Given the description of an element on the screen output the (x, y) to click on. 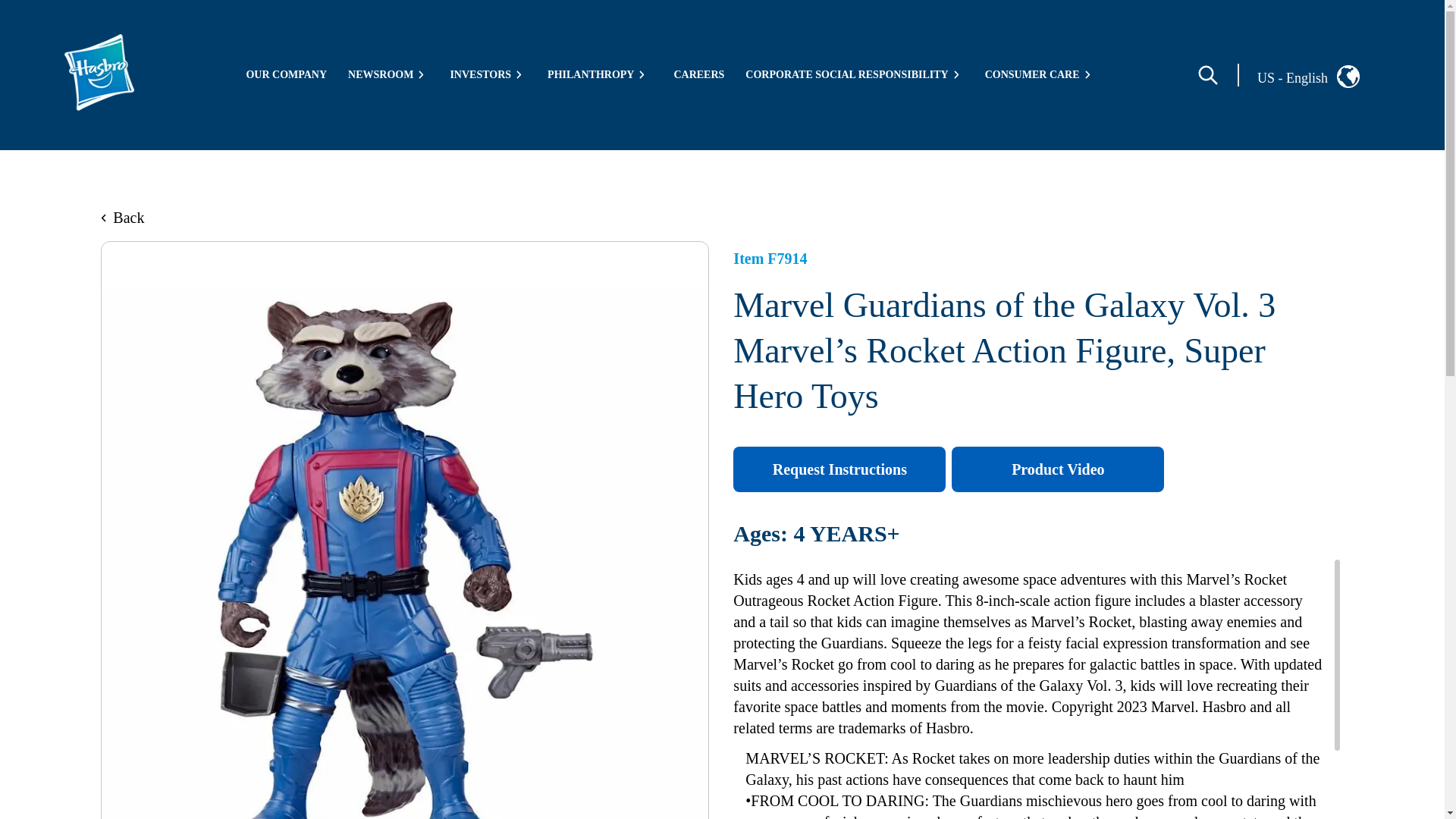
OUR COMPANY (285, 74)
